Given the description of an element on the screen output the (x, y) to click on. 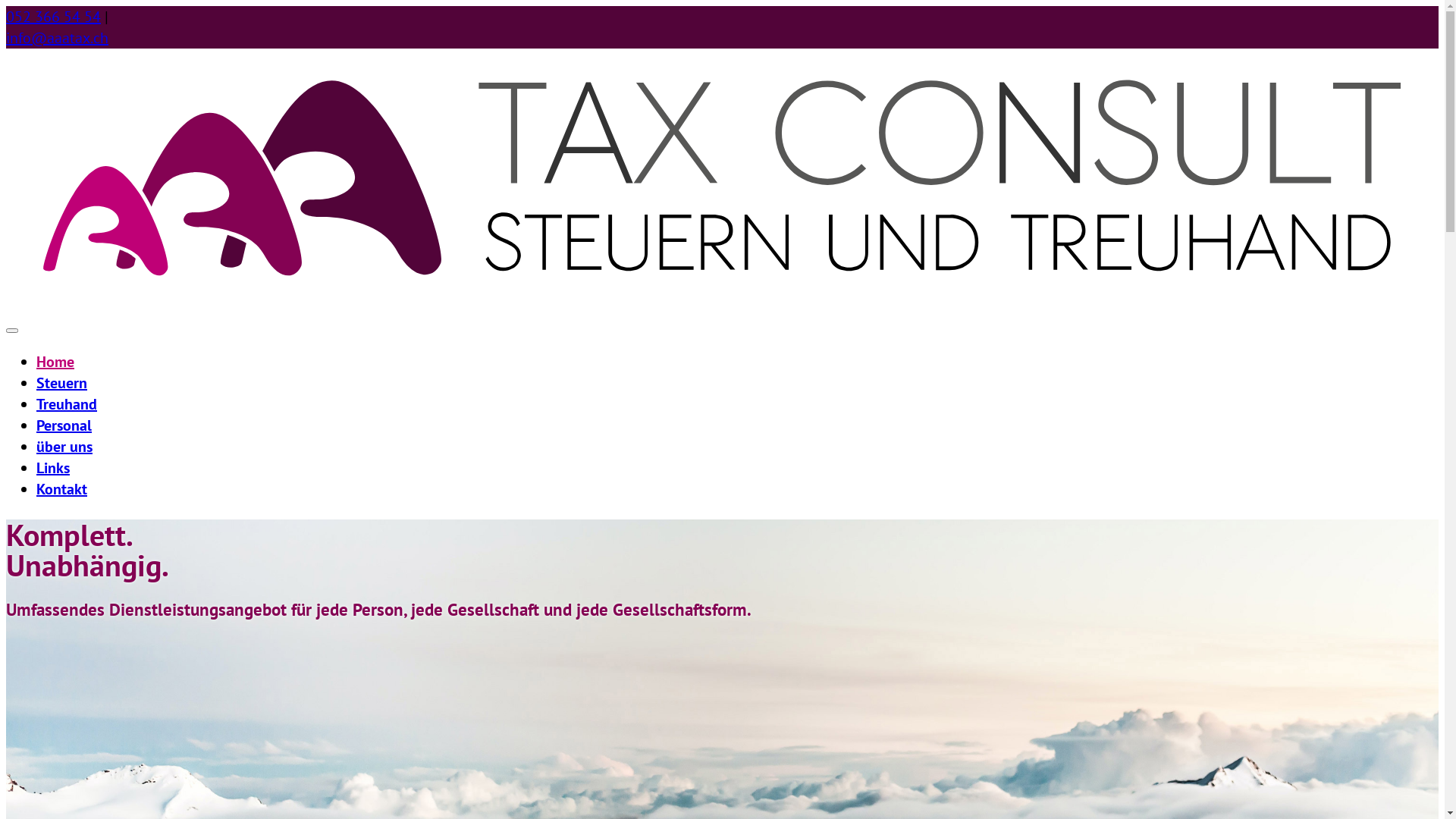
info@aaatax.ch Element type: text (57, 37)
Home Element type: text (55, 361)
052 366 54 54 Element type: text (53, 16)
Personal Element type: text (63, 425)
Kontakt Element type: text (61, 488)
Treuhand Element type: text (66, 404)
Steuern Element type: text (61, 382)
Links Element type: text (52, 467)
